Given the description of an element on the screen output the (x, y) to click on. 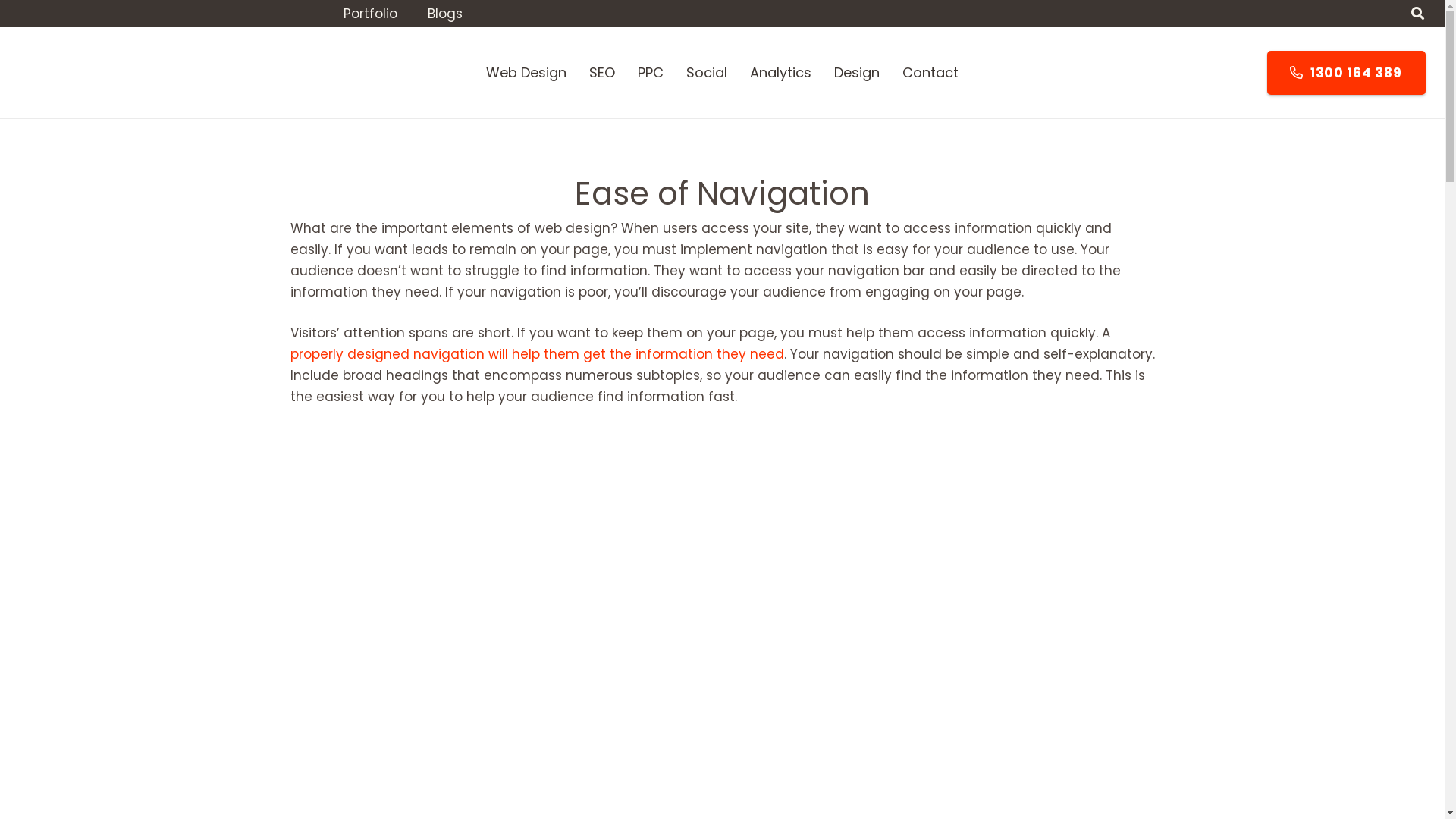
Blogs Element type: text (444, 13)
PPC Element type: text (650, 72)
1300 164 389 Element type: text (1346, 72)
Contact Element type: text (930, 72)
Design Element type: text (856, 72)
Analytics Element type: text (780, 72)
Portfolio Element type: text (370, 13)
Web Design Element type: text (525, 72)
Social Element type: text (706, 72)
SEO Element type: text (601, 72)
